Given the description of an element on the screen output the (x, y) to click on. 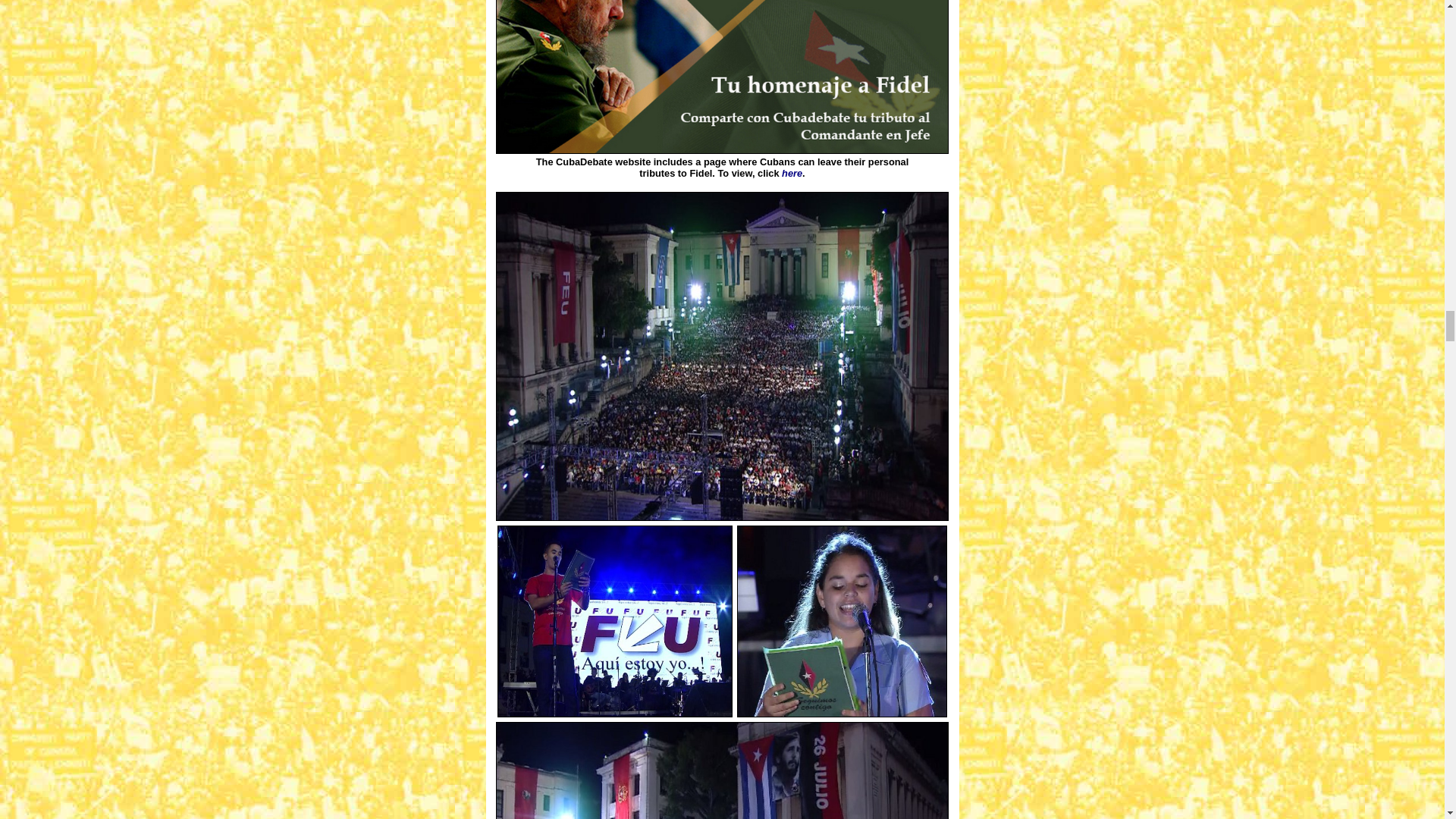
here (791, 173)
